Given the description of an element on the screen output the (x, y) to click on. 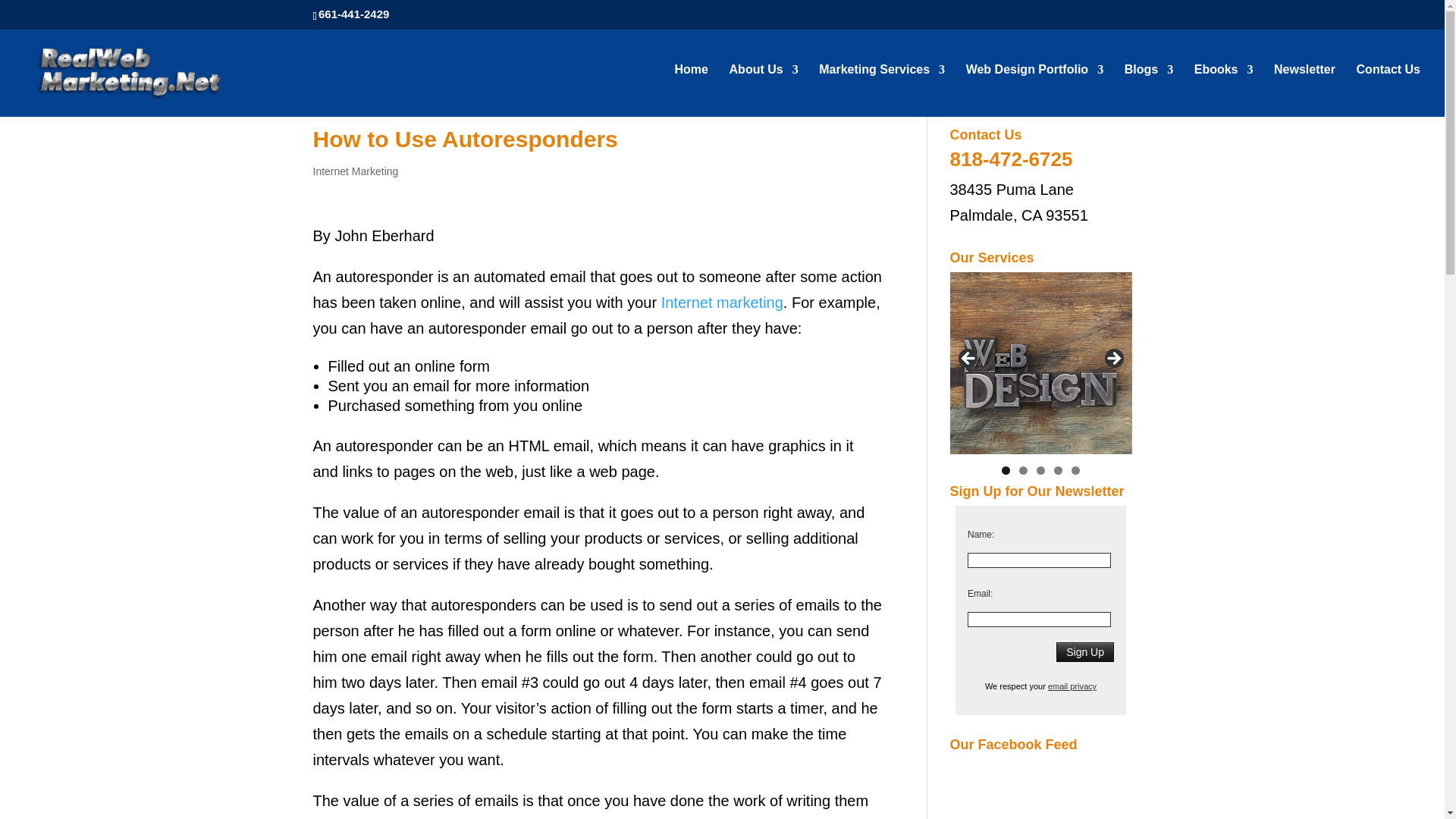
Web Design Portfolio (1034, 90)
Ebooks (1223, 90)
About Us (763, 90)
Marketing Services (881, 90)
Blogs (1148, 90)
Sign Up (1085, 651)
